Given the description of an element on the screen output the (x, y) to click on. 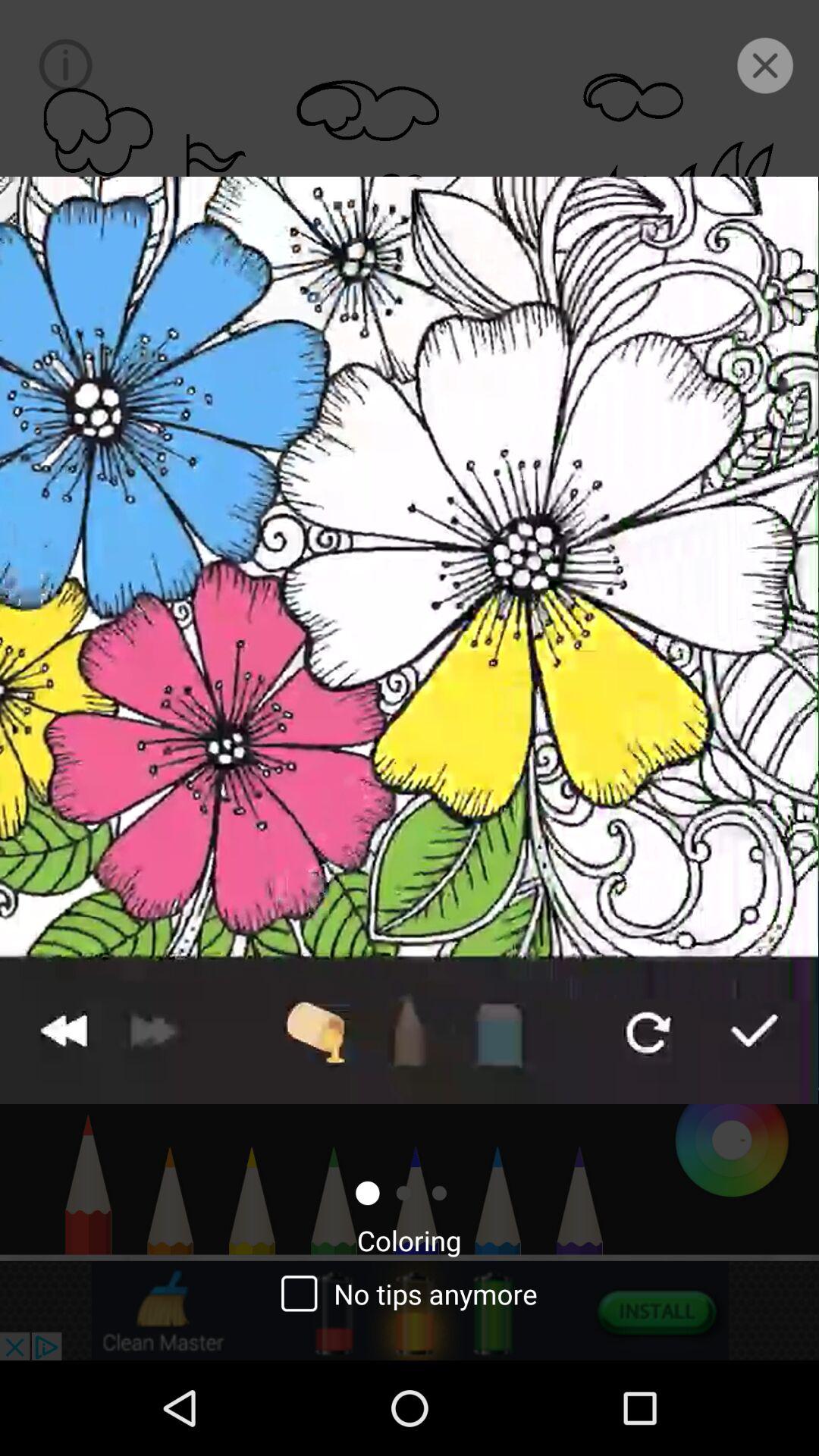
close (765, 65)
